Given the description of an element on the screen output the (x, y) to click on. 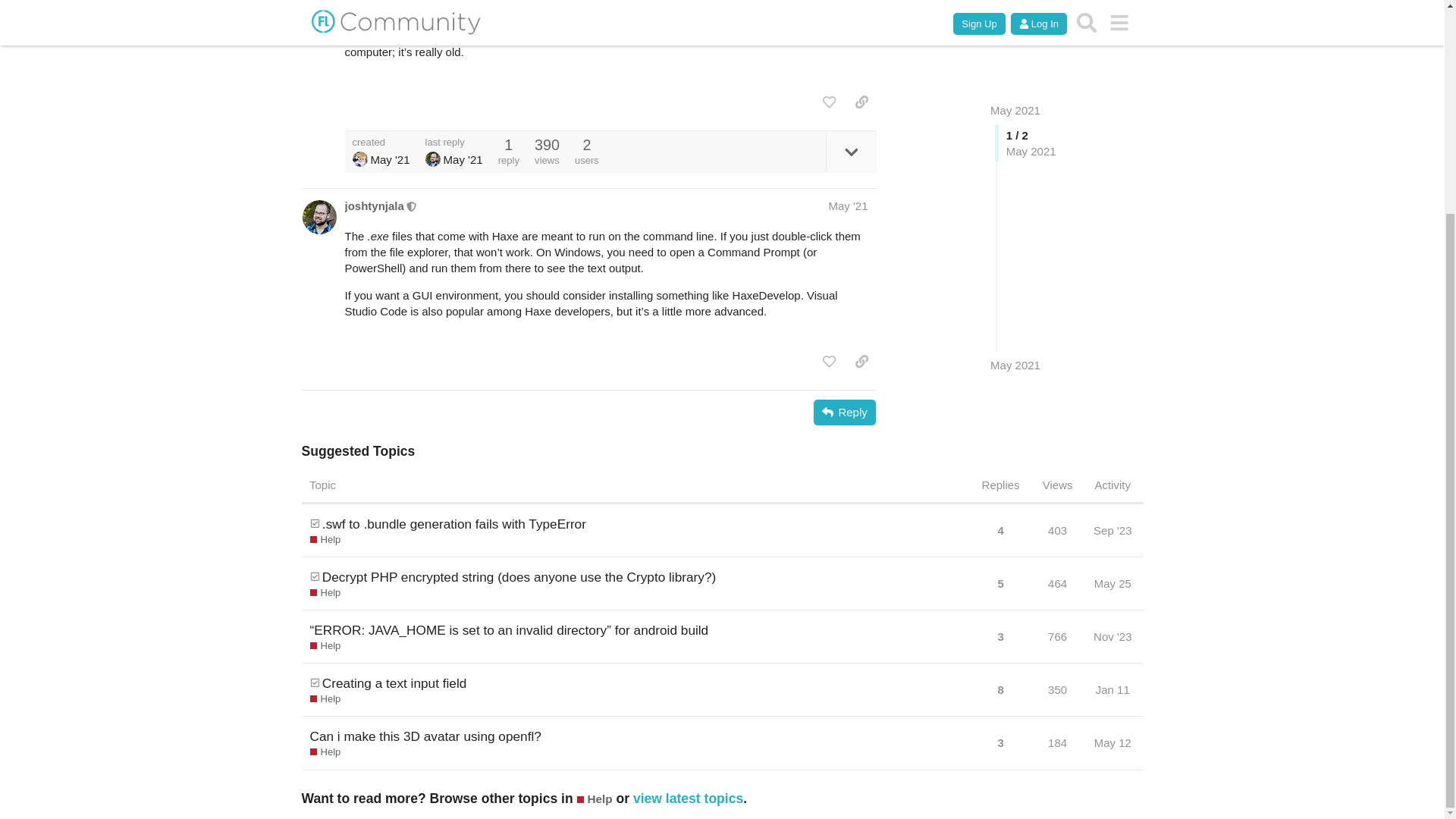
May 21, 2021 11:36 pm (389, 159)
Mark3 mstrsgt (359, 159)
Post date (847, 205)
.swf to .bundle generation fails with TypeError (453, 523)
Reply (844, 412)
May 22, 2021 12:46 am (463, 159)
share a link to this post (861, 102)
last reply (454, 142)
Josh Tynjala (433, 159)
expand topic details (850, 151)
